Given the description of an element on the screen output the (x, y) to click on. 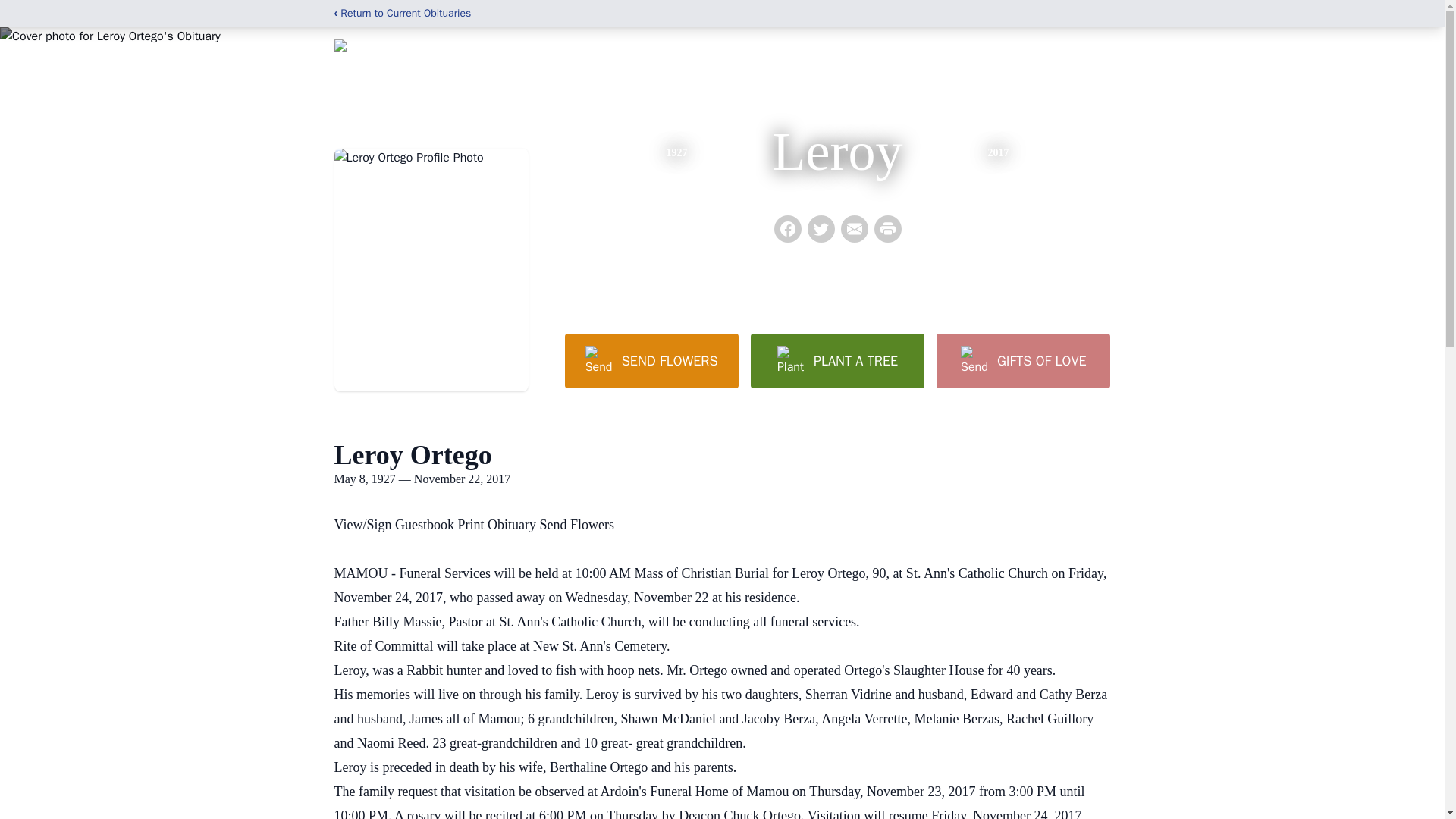
PLANT A TREE (837, 360)
GIFTS OF LOVE (1022, 360)
SEND FLOWERS (651, 360)
